Given the description of an element on the screen output the (x, y) to click on. 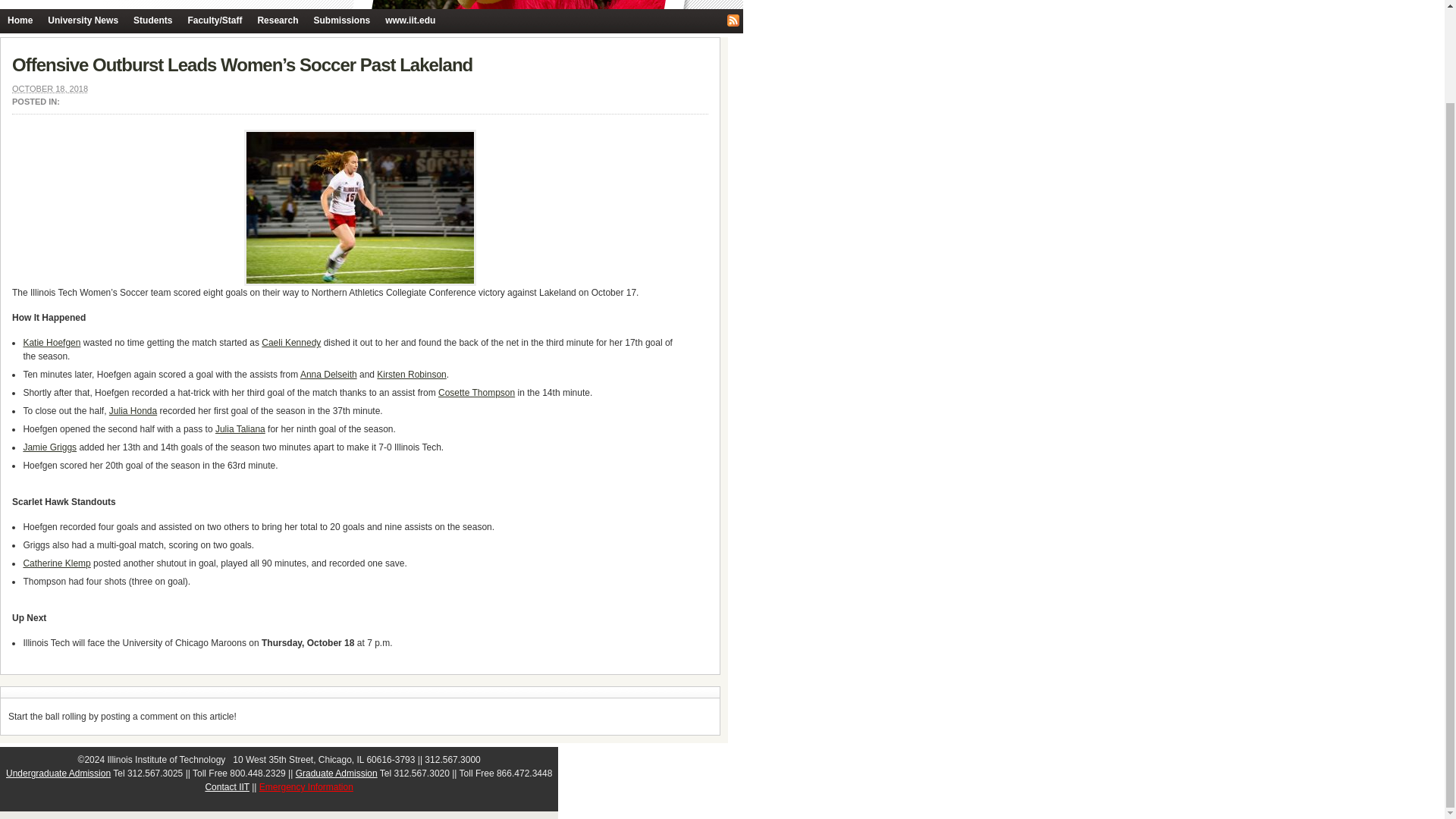
Anna Delseith (327, 374)
Illinois Tech Today RSS Feed (732, 20)
Jamie Griggs (50, 447)
Research (276, 20)
www.iit.edu (409, 20)
2018-10-18T08:10:54-05:00 (49, 88)
Home (20, 20)
Submissions (341, 20)
Undergraduate Admission (57, 773)
RSS Feed (732, 20)
